Given the description of an element on the screen output the (x, y) to click on. 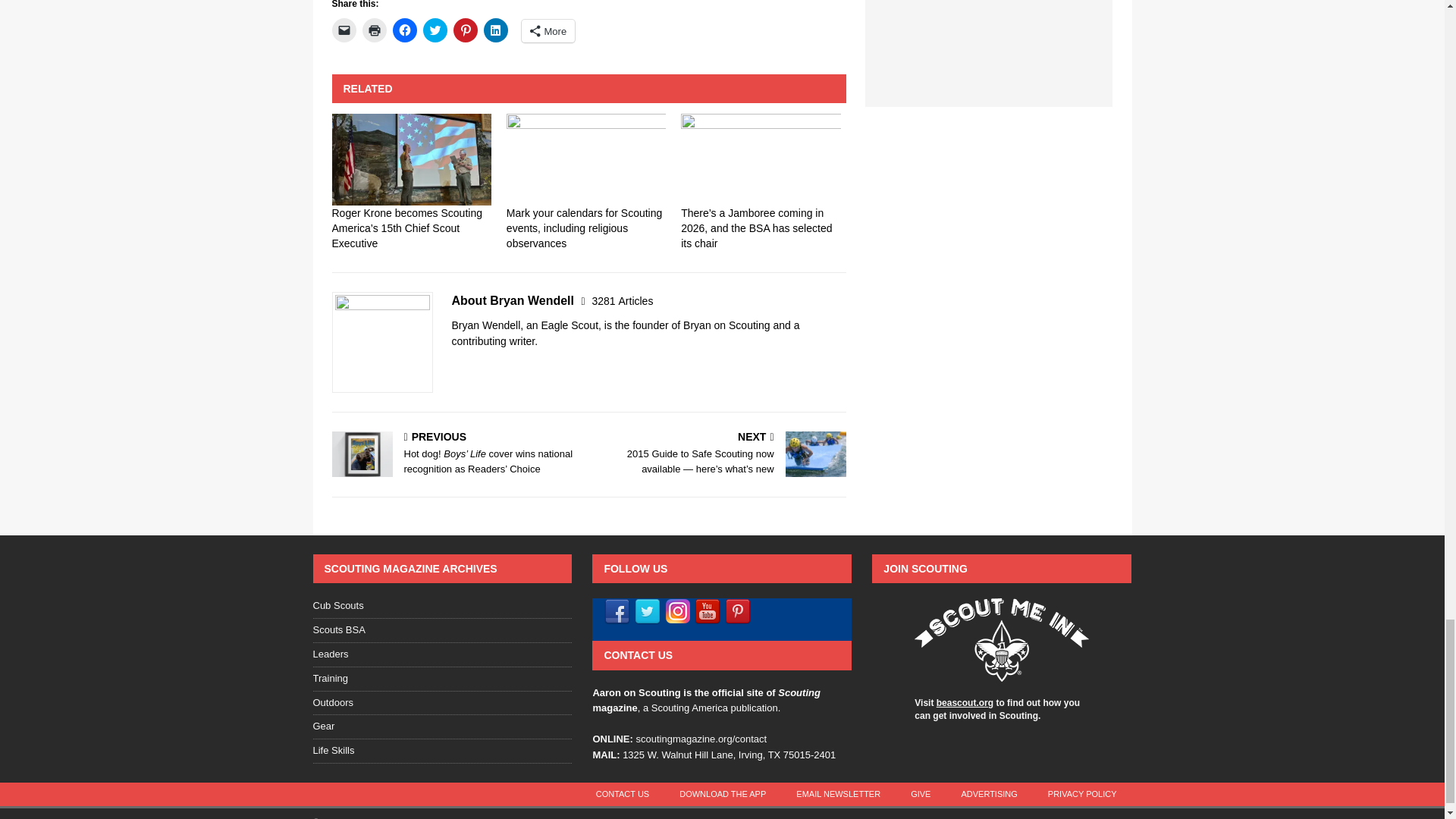
Click to print (374, 30)
Click to email a link to a friend (343, 30)
More (548, 30)
Click to share on Twitter (434, 30)
Click to share on Facebook (404, 30)
